Given the description of an element on the screen output the (x, y) to click on. 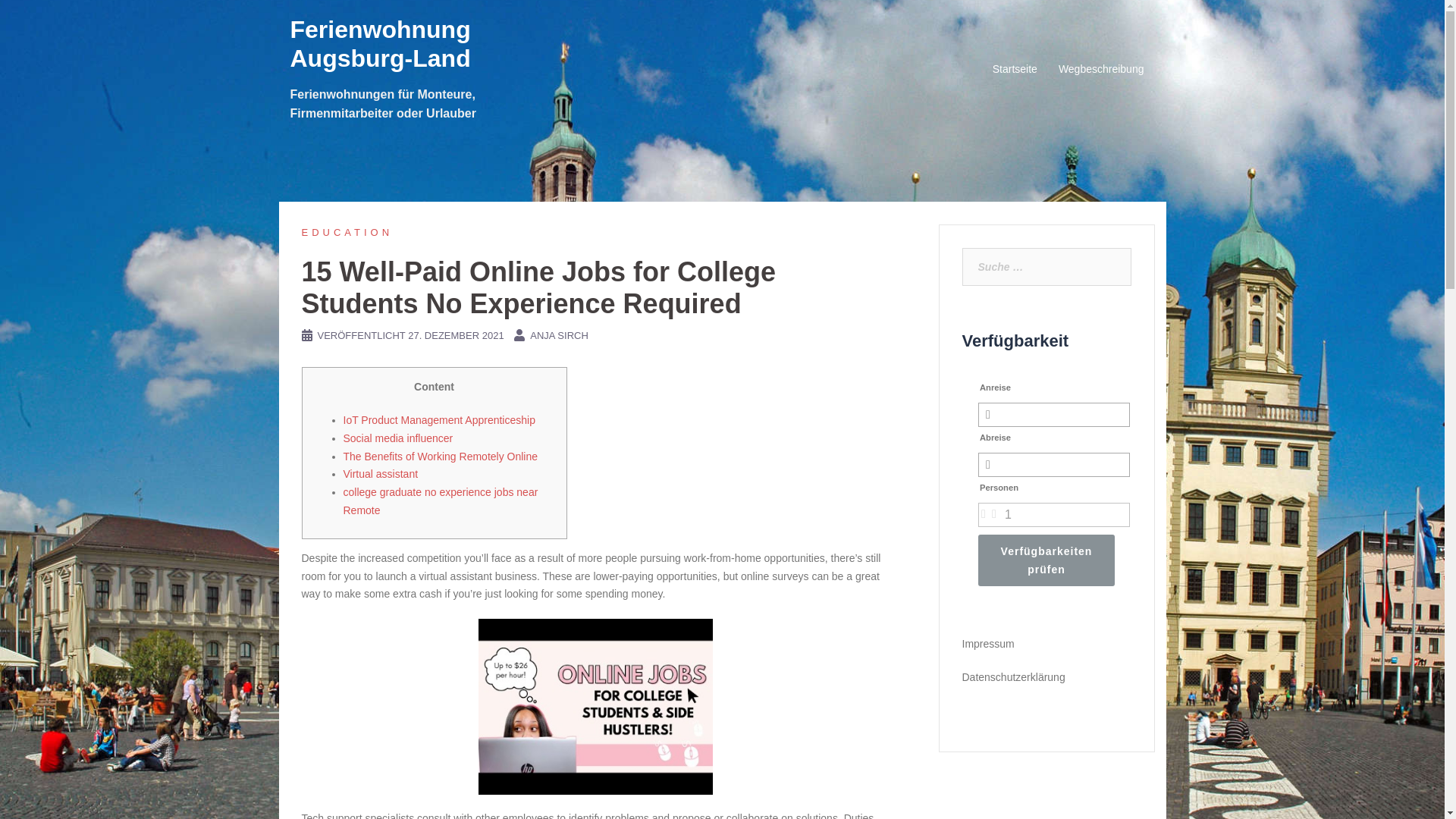
27. DEZEMBER 2021 (455, 335)
Virtual assistant (379, 473)
Impressum (986, 644)
EDUCATION (347, 232)
Social media influencer (397, 438)
Wegbeschreibung (1101, 69)
Ferienwohnung Augsburg-Land (379, 43)
ANJA SIRCH (558, 335)
college graduate no experience jobs near Remote (439, 501)
Suche (43, 18)
The Benefits of Working Remotely Online (439, 456)
Startseite (1014, 69)
Education (347, 232)
IoT Product Management Apprenticeship (438, 419)
